Given the description of an element on the screen output the (x, y) to click on. 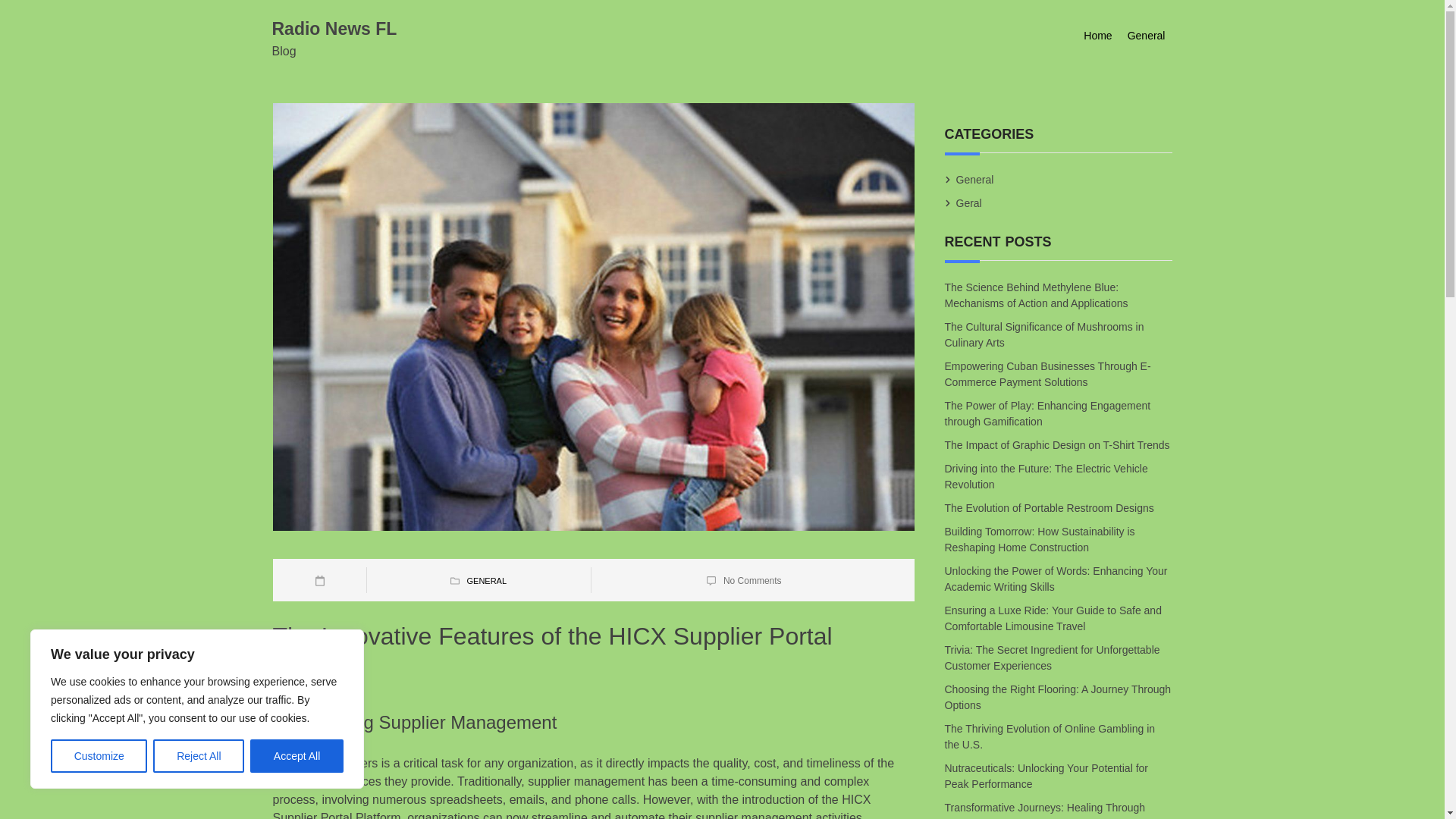
General (1146, 35)
Driving into the Future: The Electric Vehicle Revolution (1046, 476)
General (974, 179)
The Power of Play: Enhancing Engagement through Gamification (1047, 413)
Reject All (198, 756)
Accept All (296, 756)
Home (1097, 35)
The Cultural Significance of Mushrooms in Culinary Arts (1044, 334)
The Impact of Graphic Design on T-Shirt Trends (1058, 445)
Customize (98, 756)
